Given the description of an element on the screen output the (x, y) to click on. 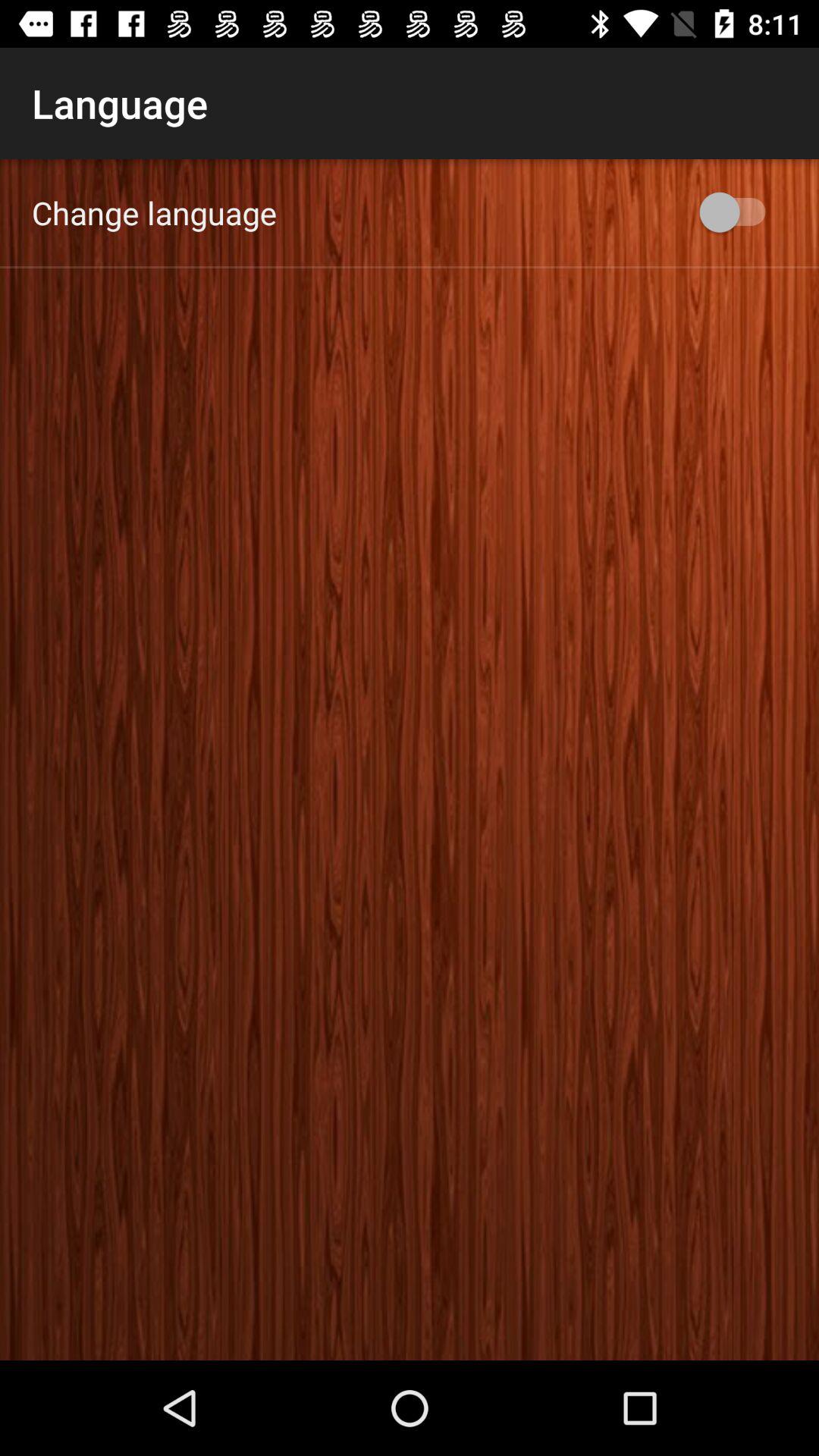
swipe until change language (153, 212)
